Given the description of an element on the screen output the (x, y) to click on. 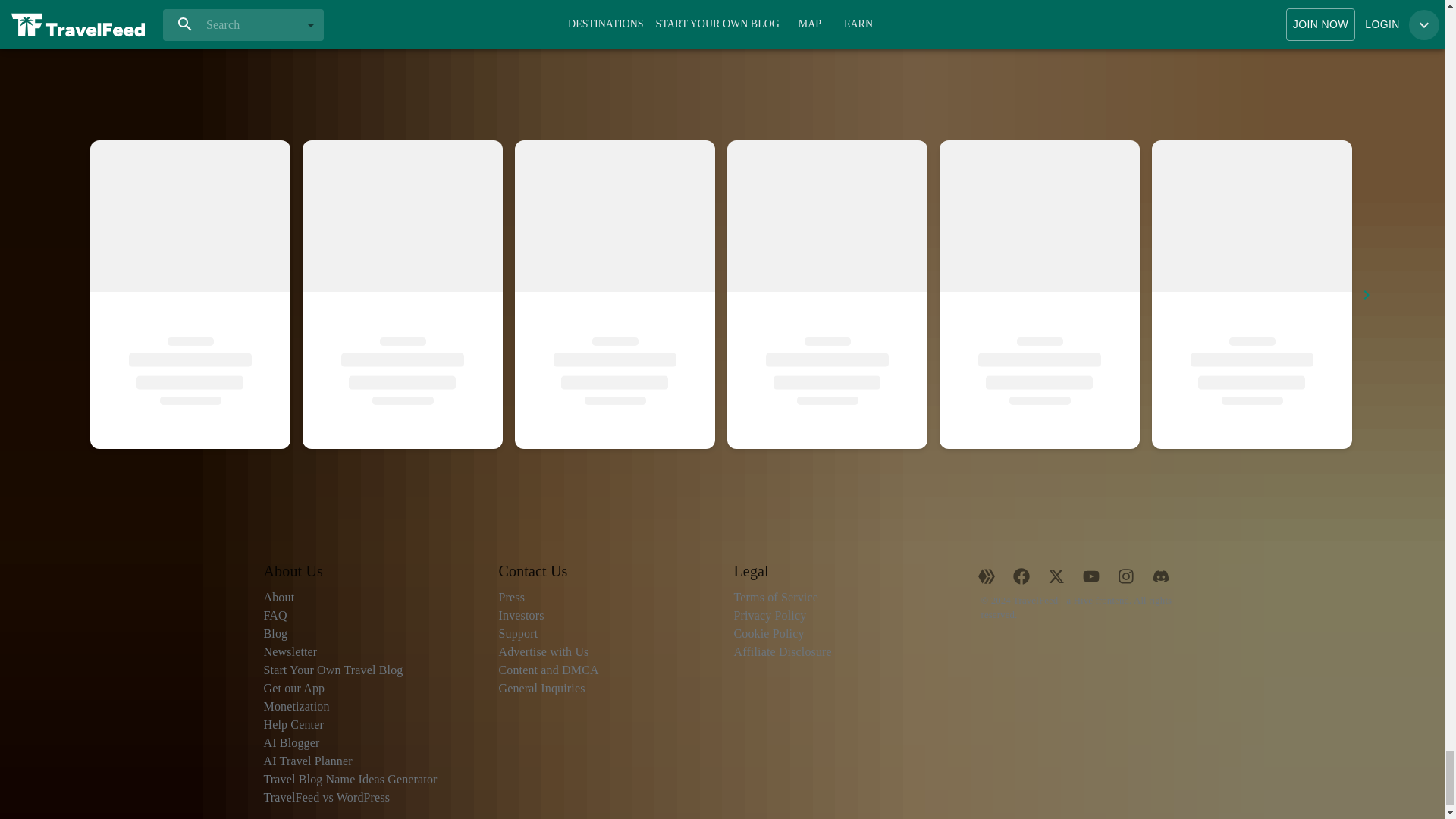
Youtube (1091, 574)
Instagram (1125, 574)
Twitter (1056, 574)
Facebook (1021, 574)
Hive (986, 574)
Discord (1159, 574)
